Given the description of an element on the screen output the (x, y) to click on. 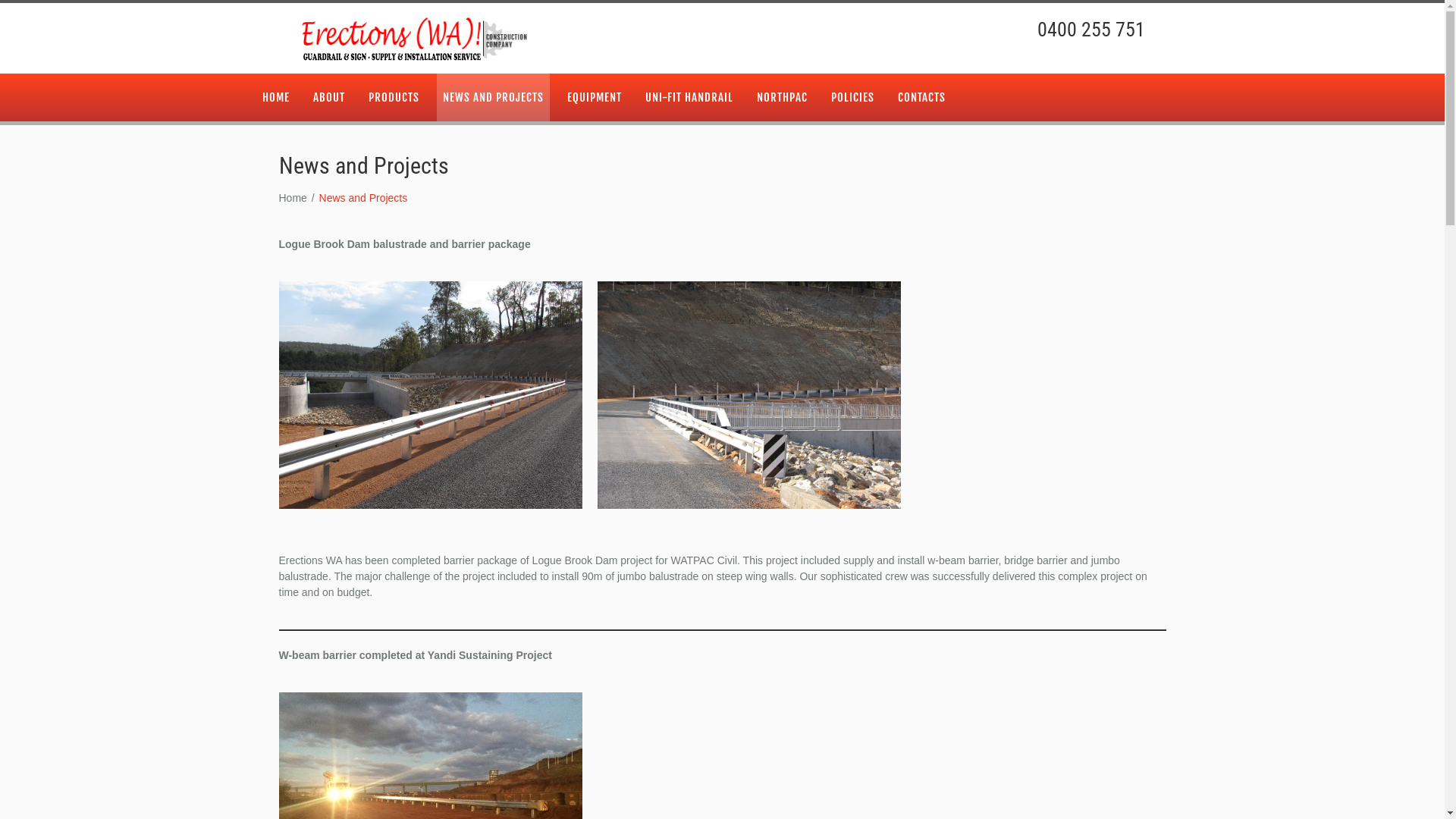
PRODUCTS Element type: text (393, 97)
ABOUT Element type: text (328, 97)
HOME Element type: text (275, 97)
EQUIPMENT Element type: text (594, 97)
UNI-FIT HANDRAIL Element type: text (688, 97)
Home Element type: text (293, 197)
POLICIES Element type: text (852, 97)
NORTHPAC Element type: text (781, 97)
NEWS AND PROJECTS Element type: text (492, 97)
0400 255 751 Element type: text (1091, 29)
CONTACTS Element type: text (921, 97)
